Given the description of an element on the screen output the (x, y) to click on. 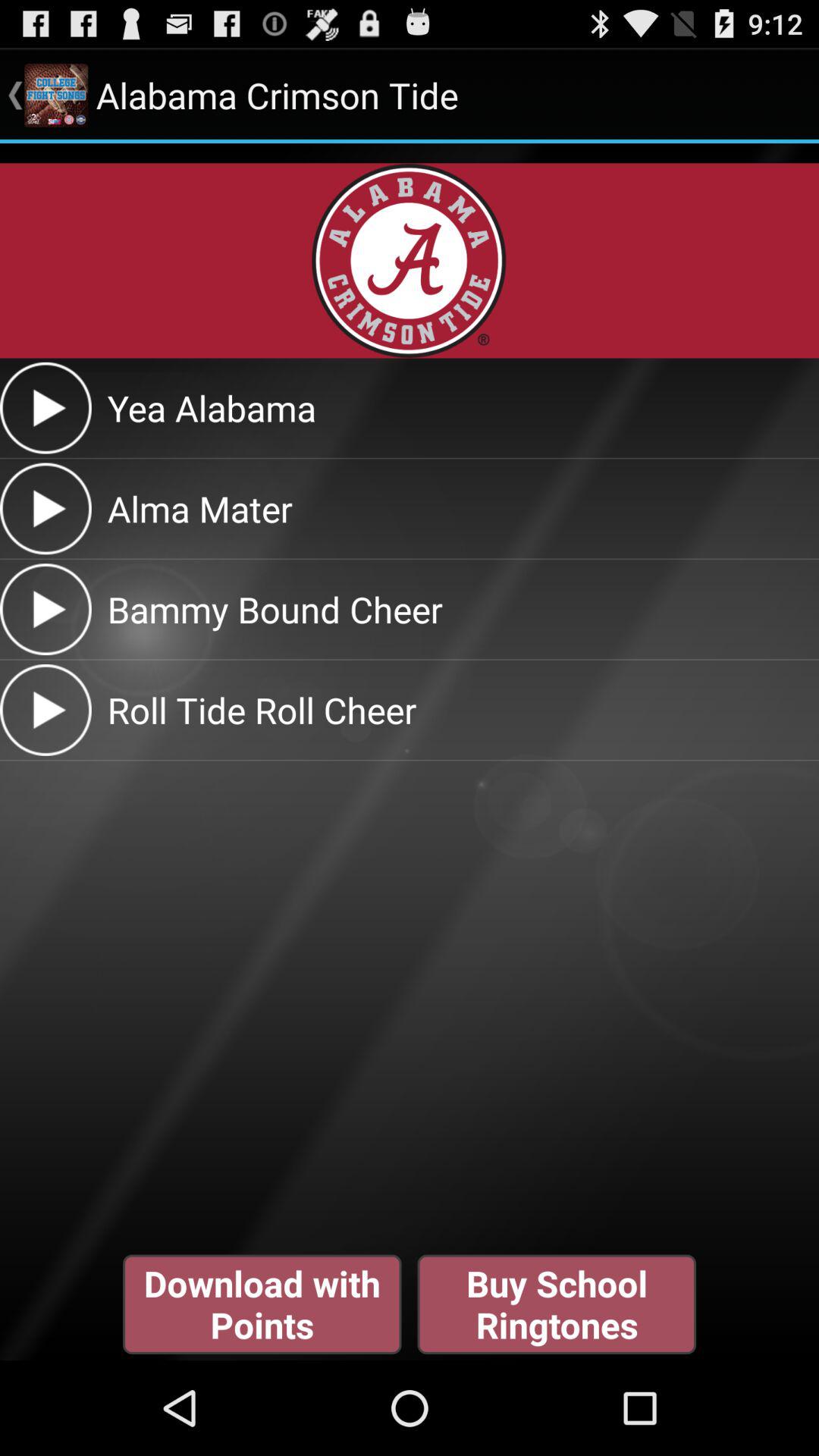
play audio (45, 407)
